Given the description of an element on the screen output the (x, y) to click on. 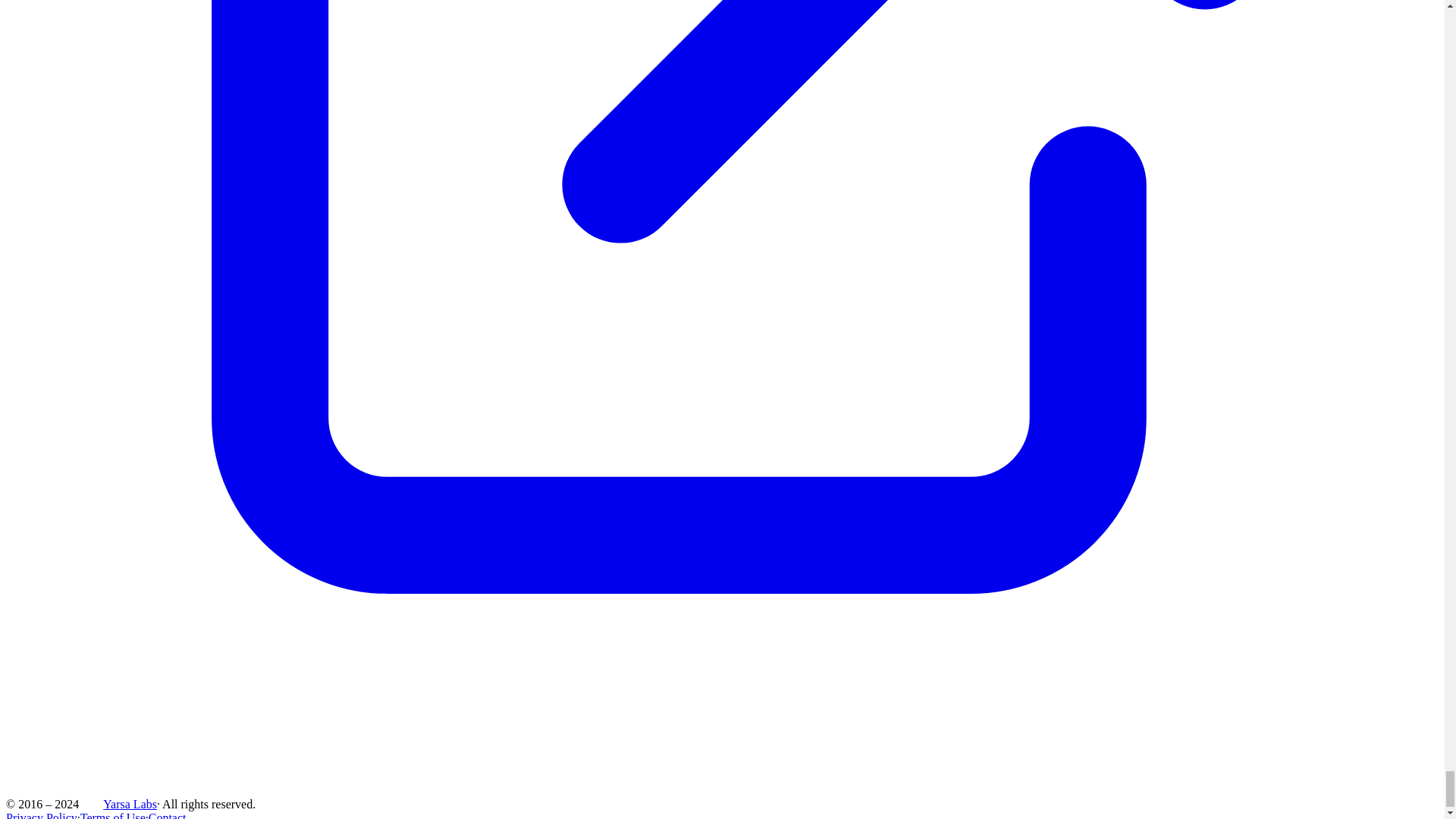
Yarsa Labs (130, 802)
